Given the description of an element on the screen output the (x, y) to click on. 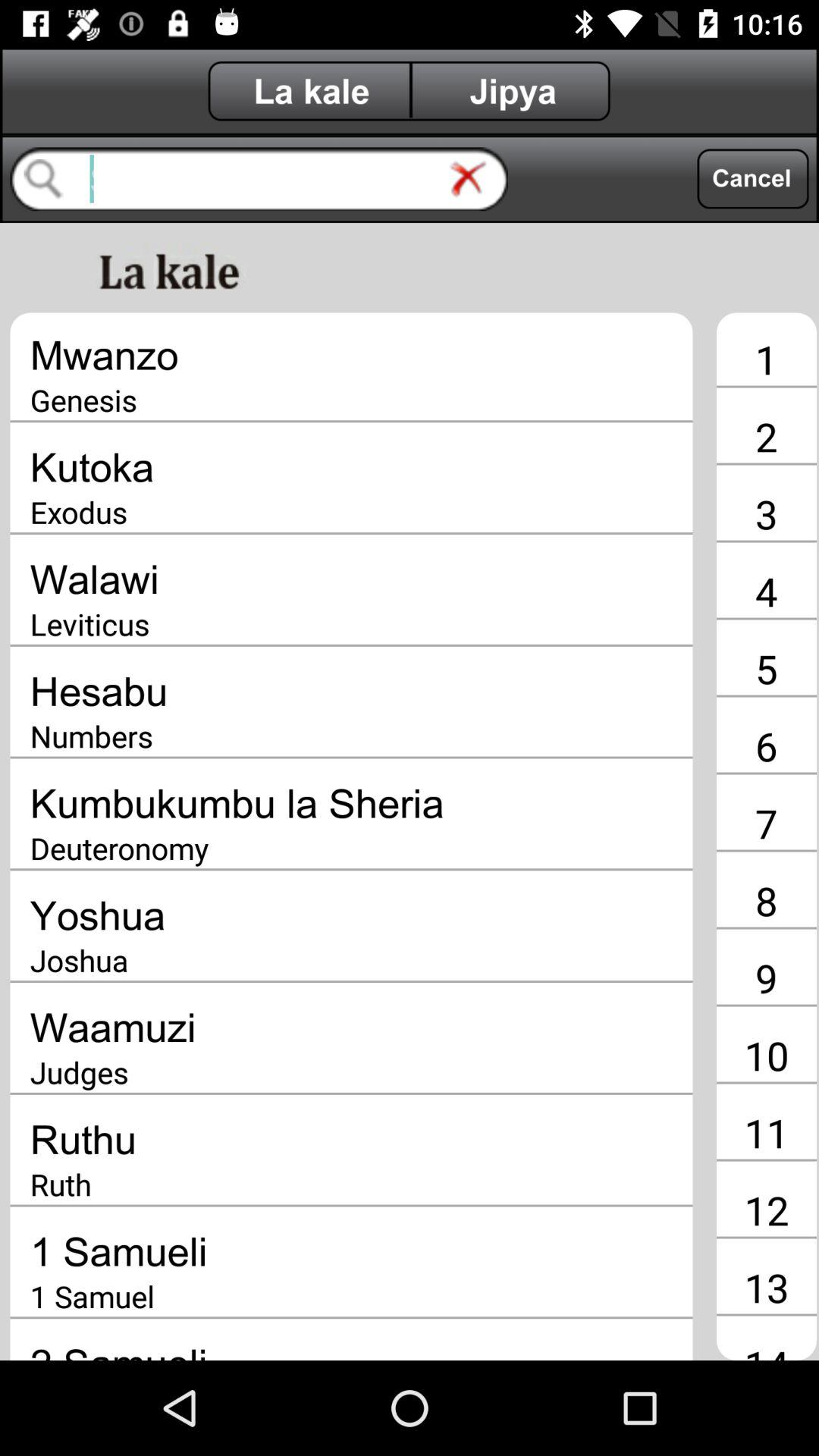
select 4 item (766, 590)
